Given the description of an element on the screen output the (x, y) to click on. 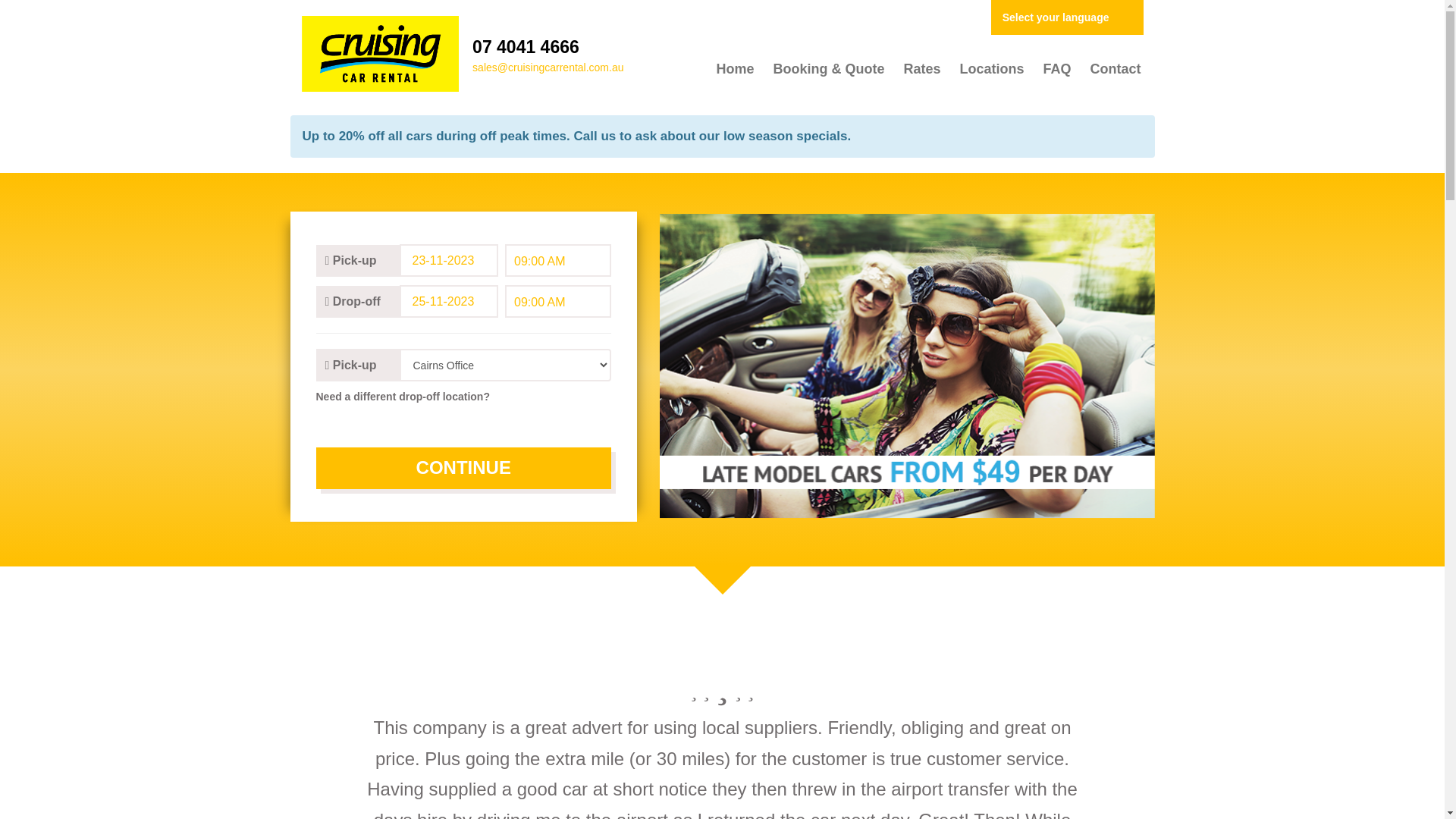
Booking & Quote Element type: text (827, 68)
Contact Element type: text (1114, 68)
Rates Element type: text (921, 68)
Continue Element type: text (463, 467)
Home Element type: text (734, 68)
Select your language Element type: text (1067, 17)
FAQ Element type: text (1055, 68)
sales@cruisingcarrental.com.au Element type: text (547, 67)
Need a different drop-off location? Element type: text (463, 396)
Locations Element type: text (990, 68)
